Given the description of an element on the screen output the (x, y) to click on. 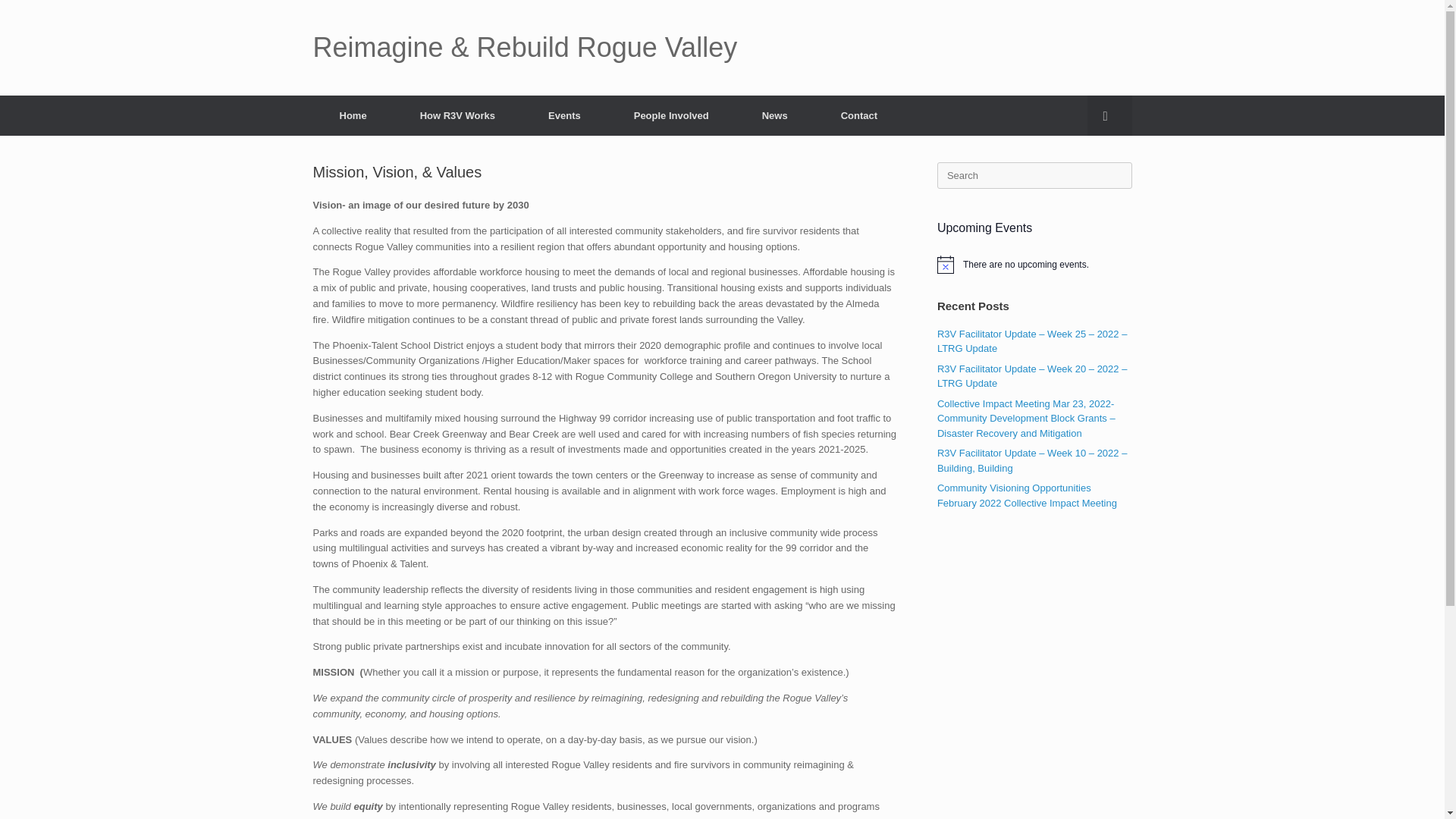
News (774, 115)
Events (564, 115)
How R3V Works (457, 115)
Home (353, 115)
People Involved (671, 115)
Contact (858, 115)
